Given the description of an element on the screen output the (x, y) to click on. 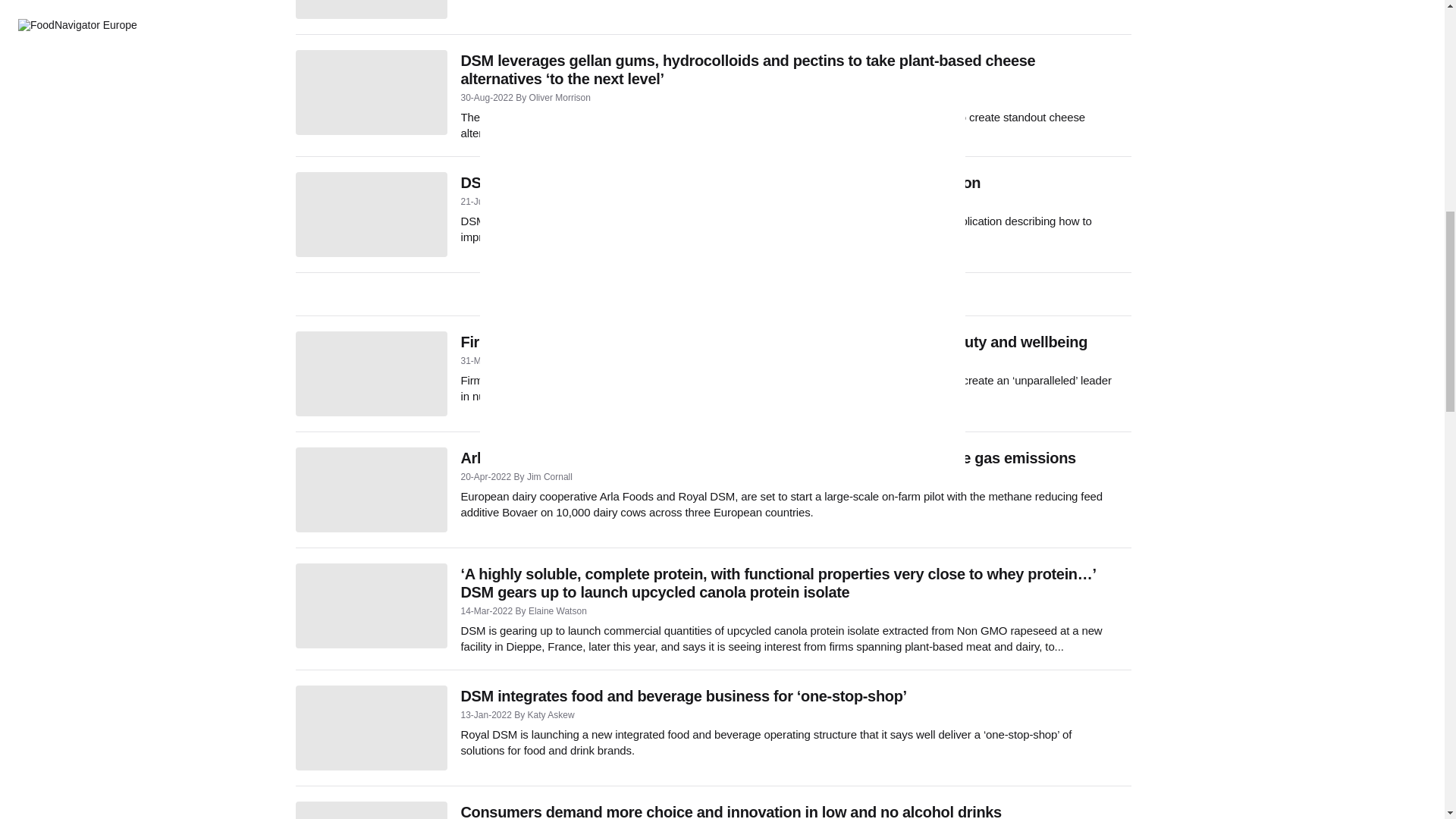
View full article (370, 373)
View full article (370, 489)
View full article (370, 727)
View full article (370, 605)
View full article (370, 9)
View full article (370, 214)
View full article (370, 92)
View full article (370, 810)
